Given the description of an element on the screen output the (x, y) to click on. 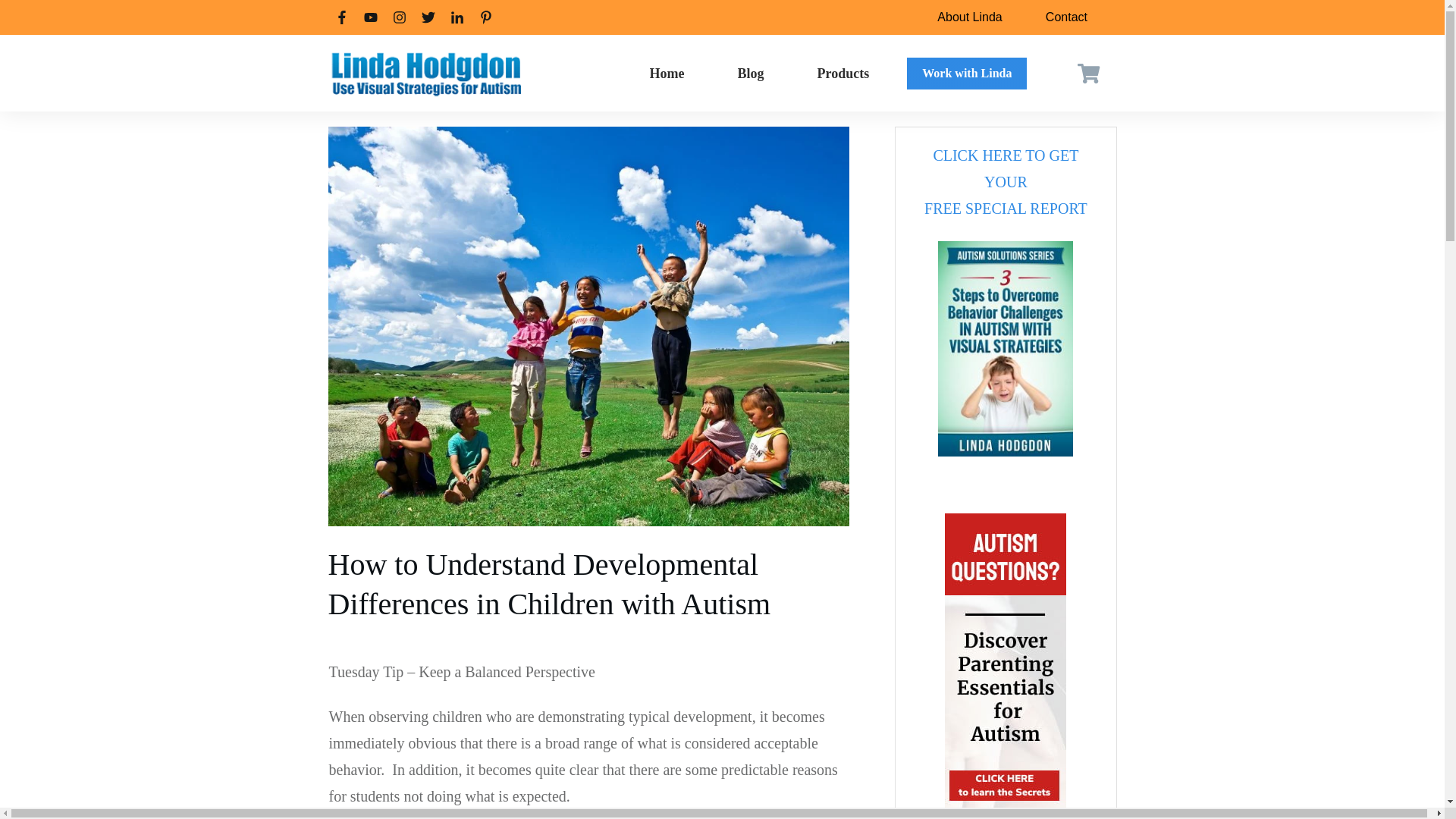
Products (842, 72)
Contact (1005, 182)
About Linda (1066, 16)
Home (969, 16)
Work with Linda (666, 72)
Blog (966, 73)
